Given the description of an element on the screen output the (x, y) to click on. 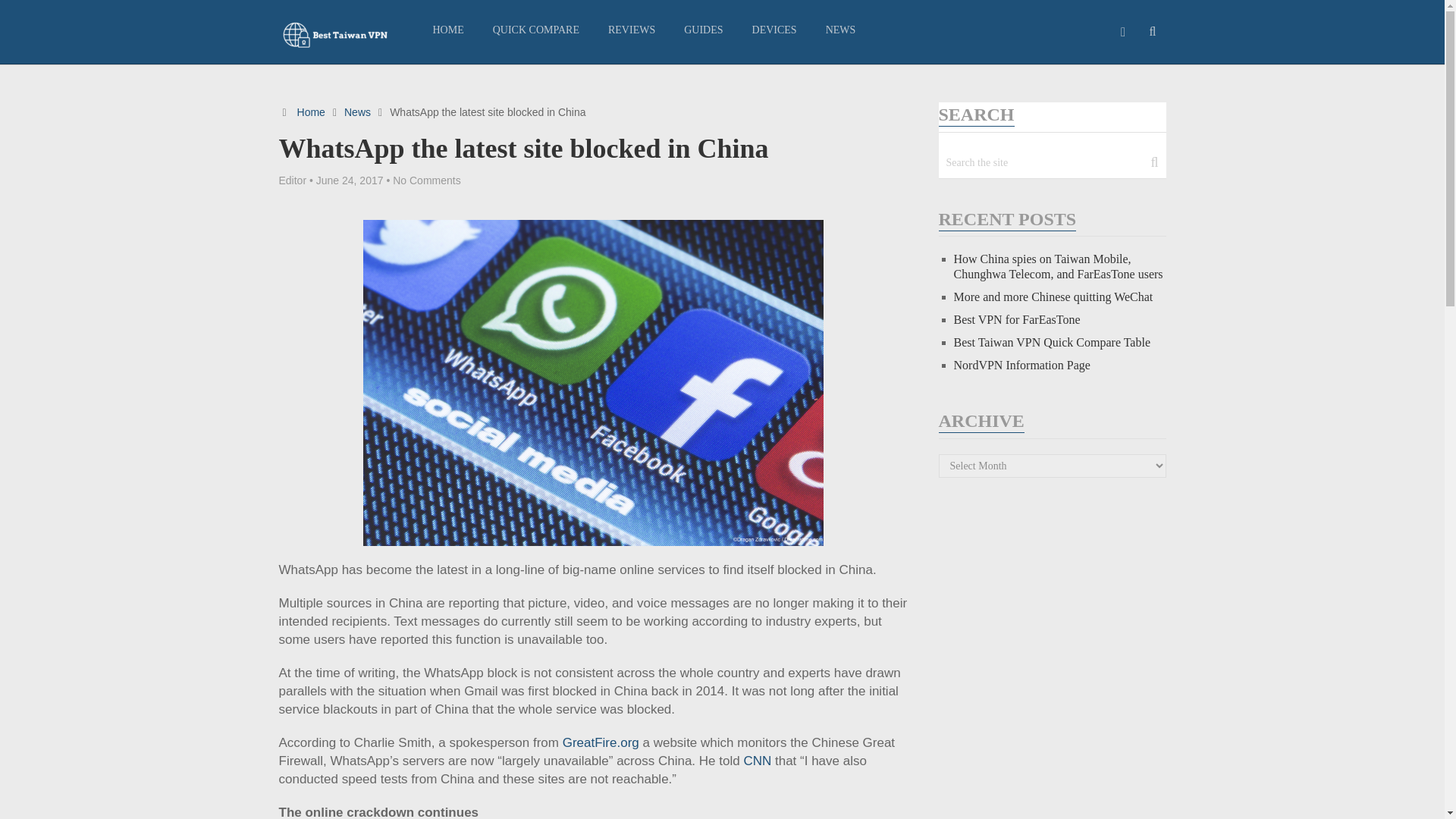
GUIDES (702, 30)
NordVPN Information Page (1021, 364)
CNN (758, 760)
Editor (293, 180)
Posts by Editor (293, 180)
NEWS (840, 30)
REVIEWS (631, 30)
HOME (449, 30)
Best VPN for FarEasTone (1016, 318)
Home (310, 111)
